Given the description of an element on the screen output the (x, y) to click on. 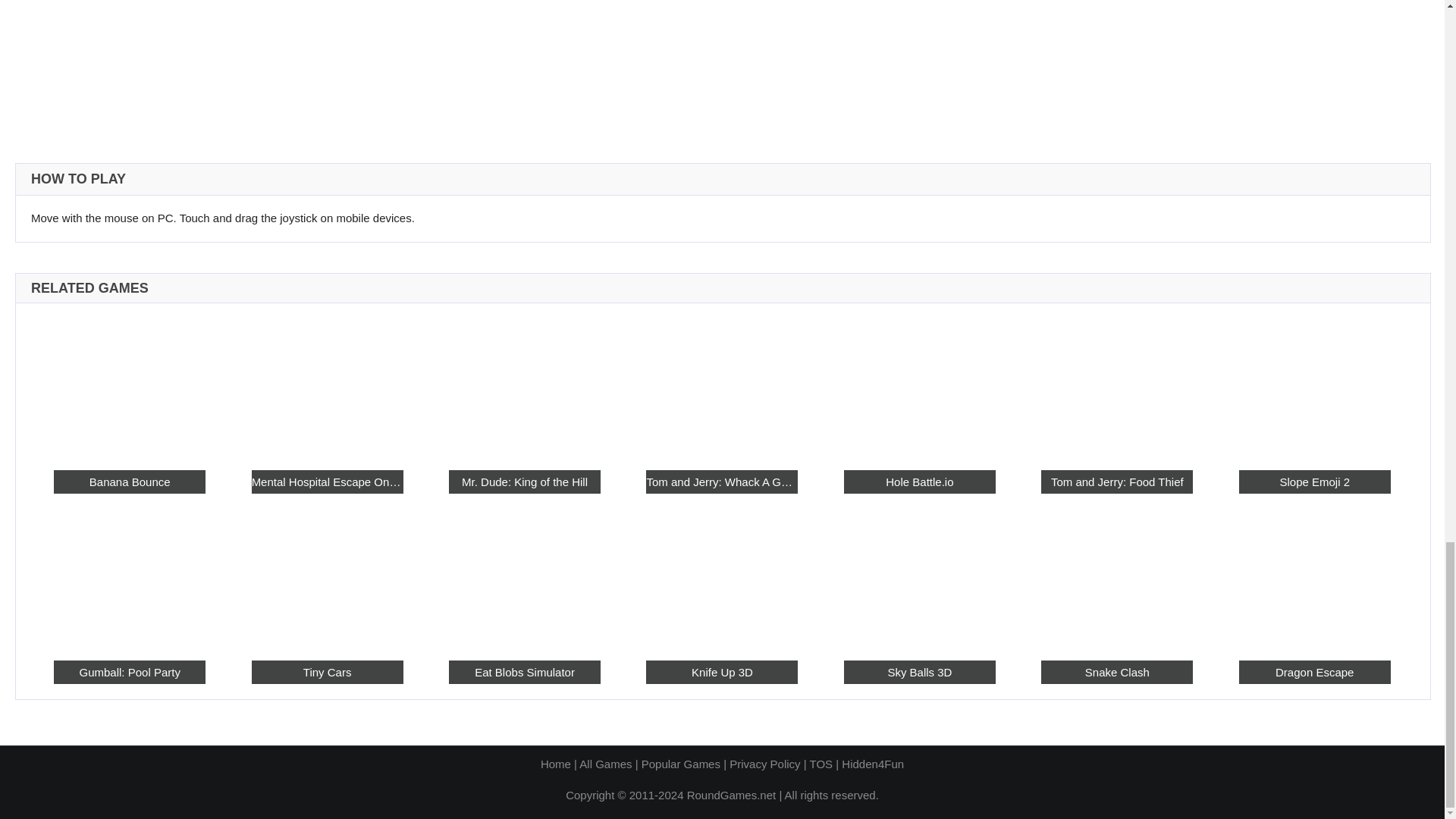
Mental Hospital Escape Online (327, 385)
Mr. Dude: King of the Hill (523, 481)
Tom and Jerry: Food Thief (1116, 385)
Slope Emoji 2 (1314, 481)
Tom and Jerry: Whack A Gopher (721, 385)
Banana Bounce (129, 385)
Tom and Jerry: Whack A Gopher (721, 481)
Mr. Dude: King of the Hill (523, 385)
Slope Emoji 2 (1314, 385)
Mental Hospital Escape Online (327, 481)
Tom and Jerry: Food Thief (1116, 481)
Hole Battle.io (919, 481)
Hole Battle.io (919, 385)
Banana Bounce (129, 481)
